Given the description of an element on the screen output the (x, y) to click on. 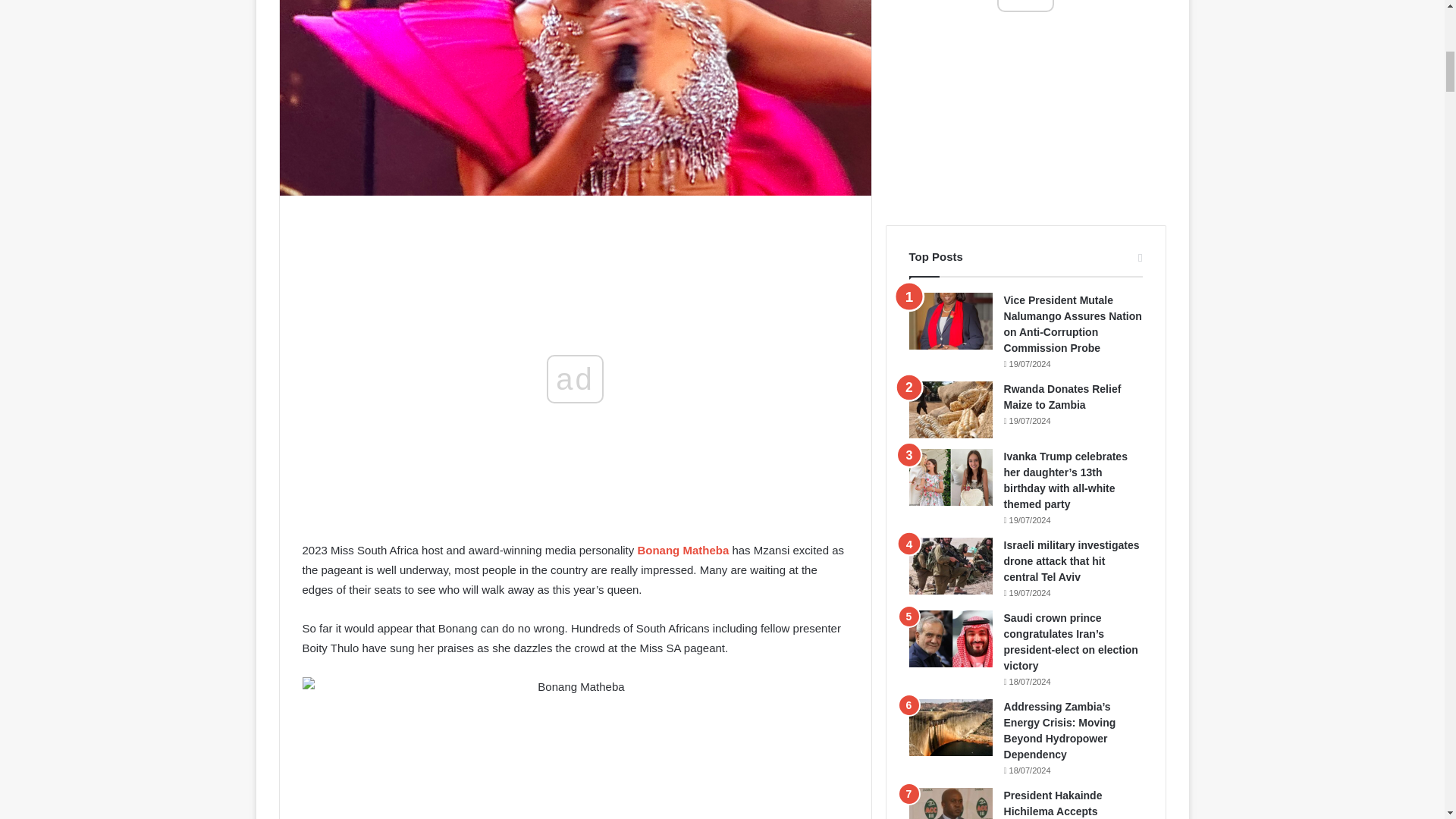
Bonang Matheba (683, 549)
